Given the description of an element on the screen output the (x, y) to click on. 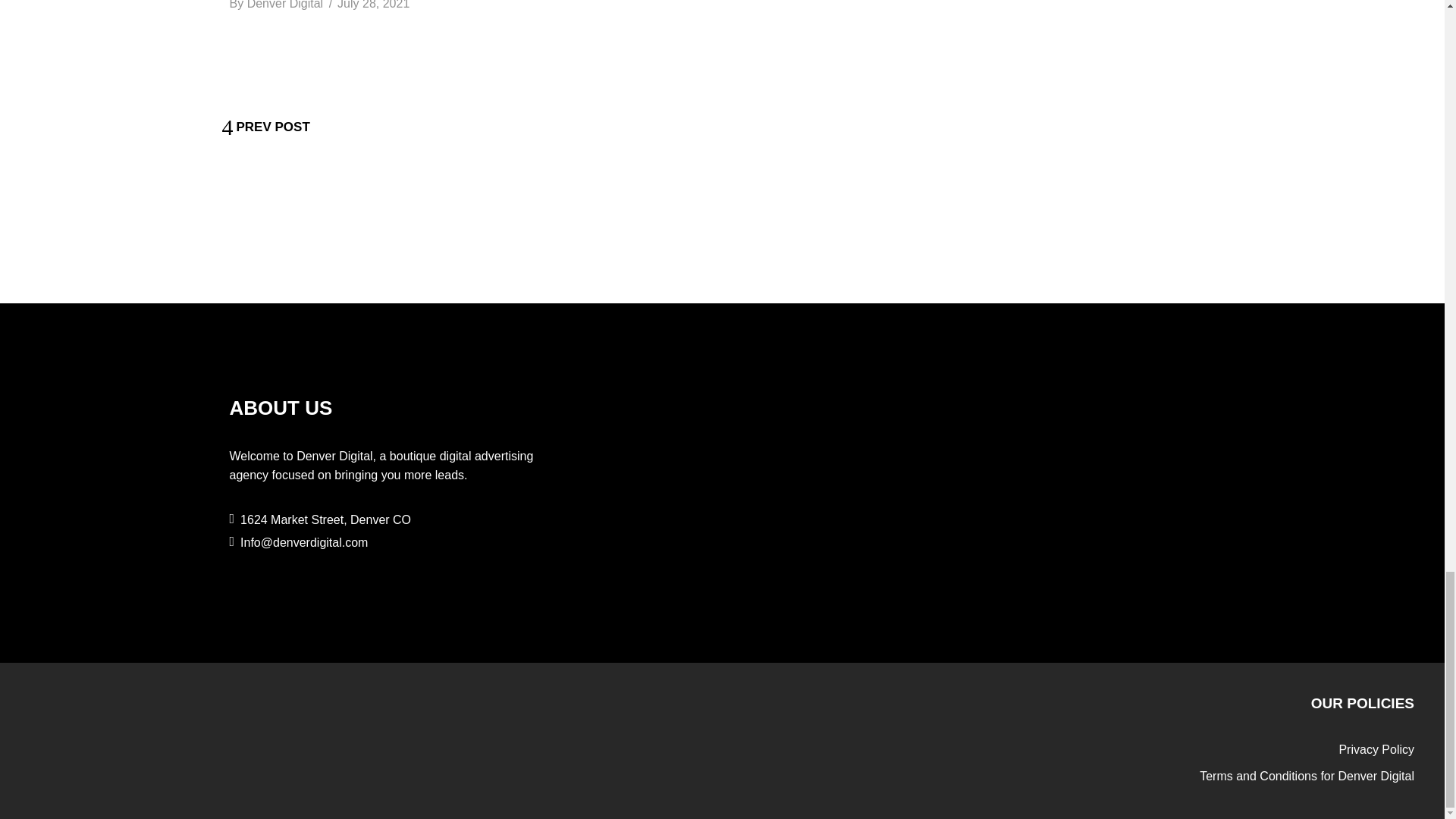
PREV POST (264, 126)
How to write the best content for your target audiences (373, 4)
Denver Digital (285, 4)
July 28, 2021 (373, 4)
